Given the description of an element on the screen output the (x, y) to click on. 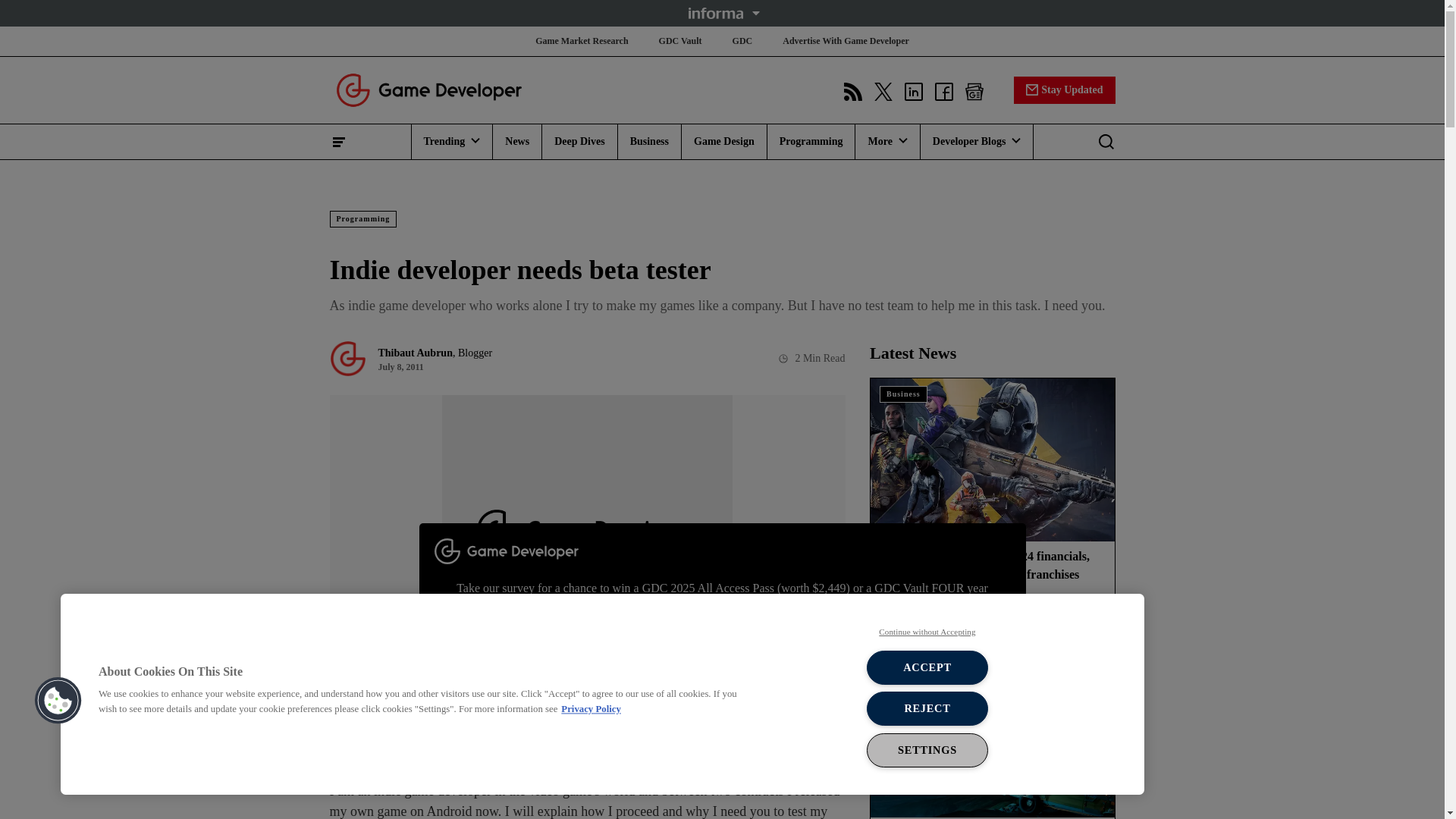
Business (649, 141)
GDC Vault (680, 41)
Programming (810, 141)
Picture of Thibaut Aubrun (347, 358)
Game Developer Logo (428, 90)
Advertise With Game Developer (845, 41)
GDC (742, 41)
Stay Updated (1064, 89)
Game Design (724, 141)
Game Market Research (581, 41)
News (517, 141)
Cookies Button (57, 700)
Deep Dives (579, 141)
